Given the description of an element on the screen output the (x, y) to click on. 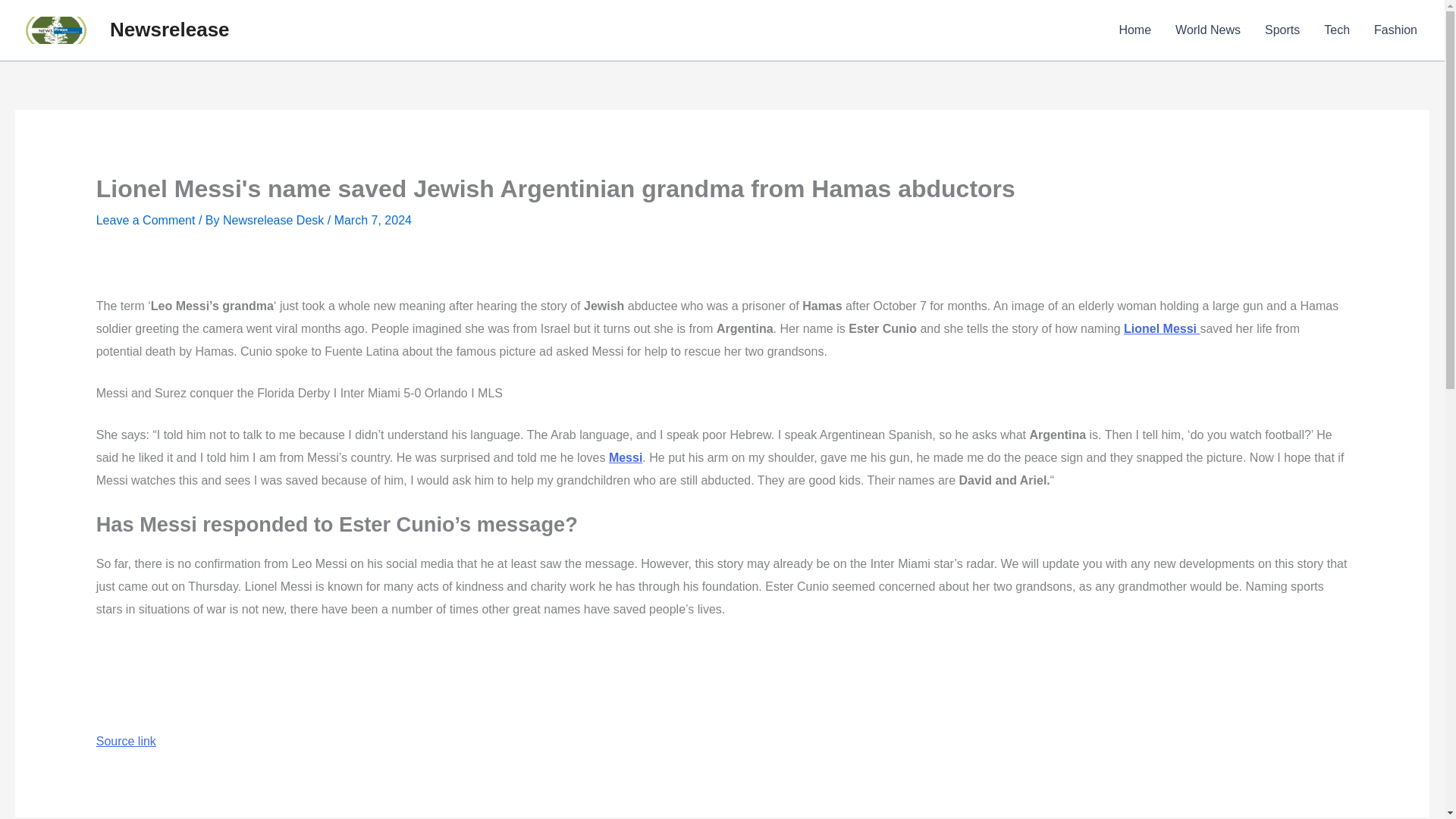
Home (1134, 30)
Fashion (1395, 30)
Sports (1281, 30)
Messi (625, 457)
Newsrelease (170, 29)
Leave a Comment (145, 219)
World News (1207, 30)
View all posts by Newsrelease Desk (274, 219)
Newsrelease Desk (274, 219)
Source link (125, 740)
